Given the description of an element on the screen output the (x, y) to click on. 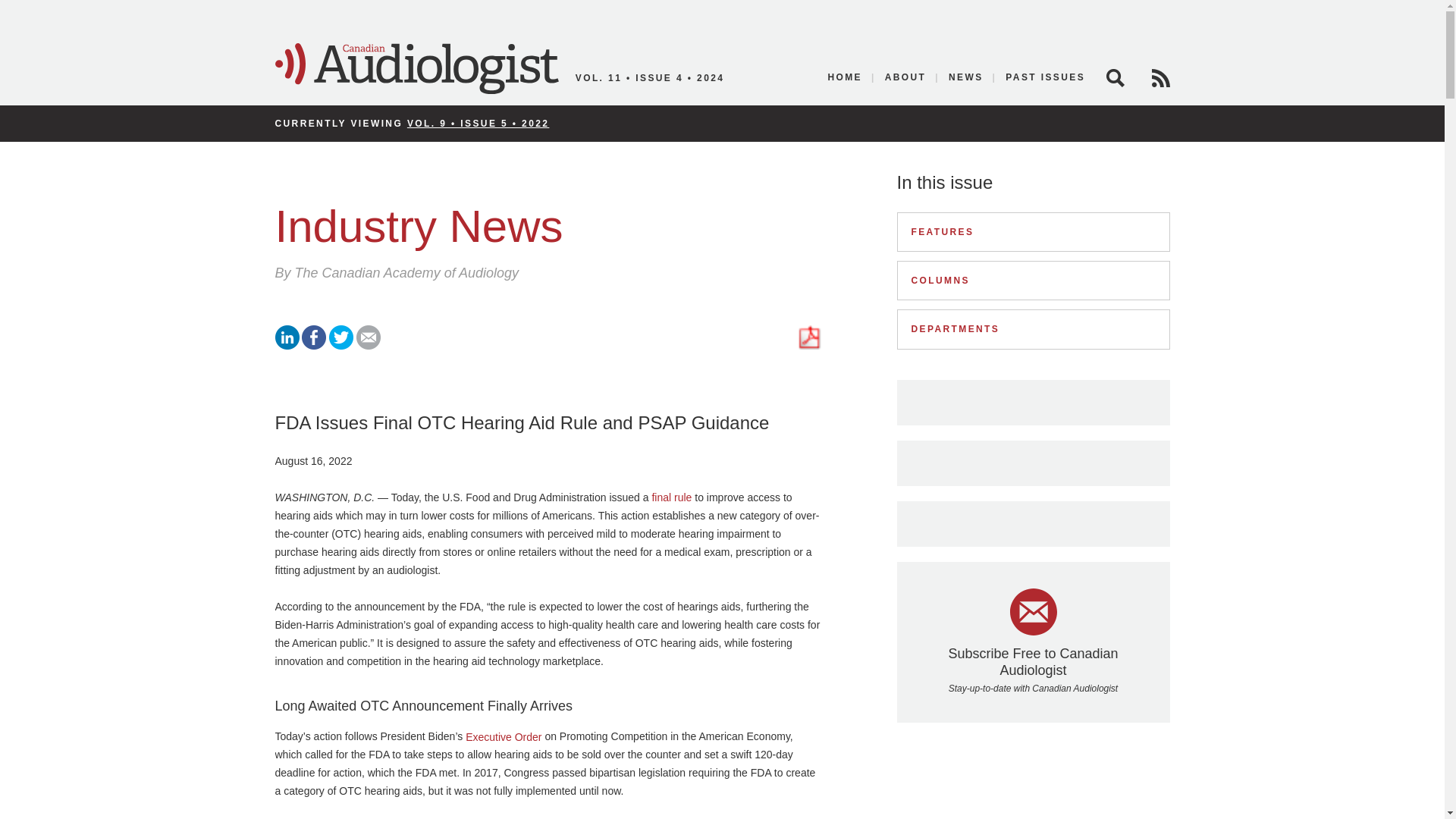
News for Canadian Audiologists (965, 77)
Share on LinkedIn (286, 345)
Send email (368, 345)
About The Canadian Academy of Audiology (906, 77)
Canadian Audiologist (416, 69)
RSS Feed (1160, 77)
Search the Canadian Audiologists site (1115, 77)
Share on Facebook (313, 345)
ABOUT (906, 77)
NEWS (965, 77)
Tweet (341, 345)
View the RSS Feed for Canadian Audiologists (1160, 77)
PAST ISSUES (1039, 77)
HOME (844, 77)
